Given the description of an element on the screen output the (x, y) to click on. 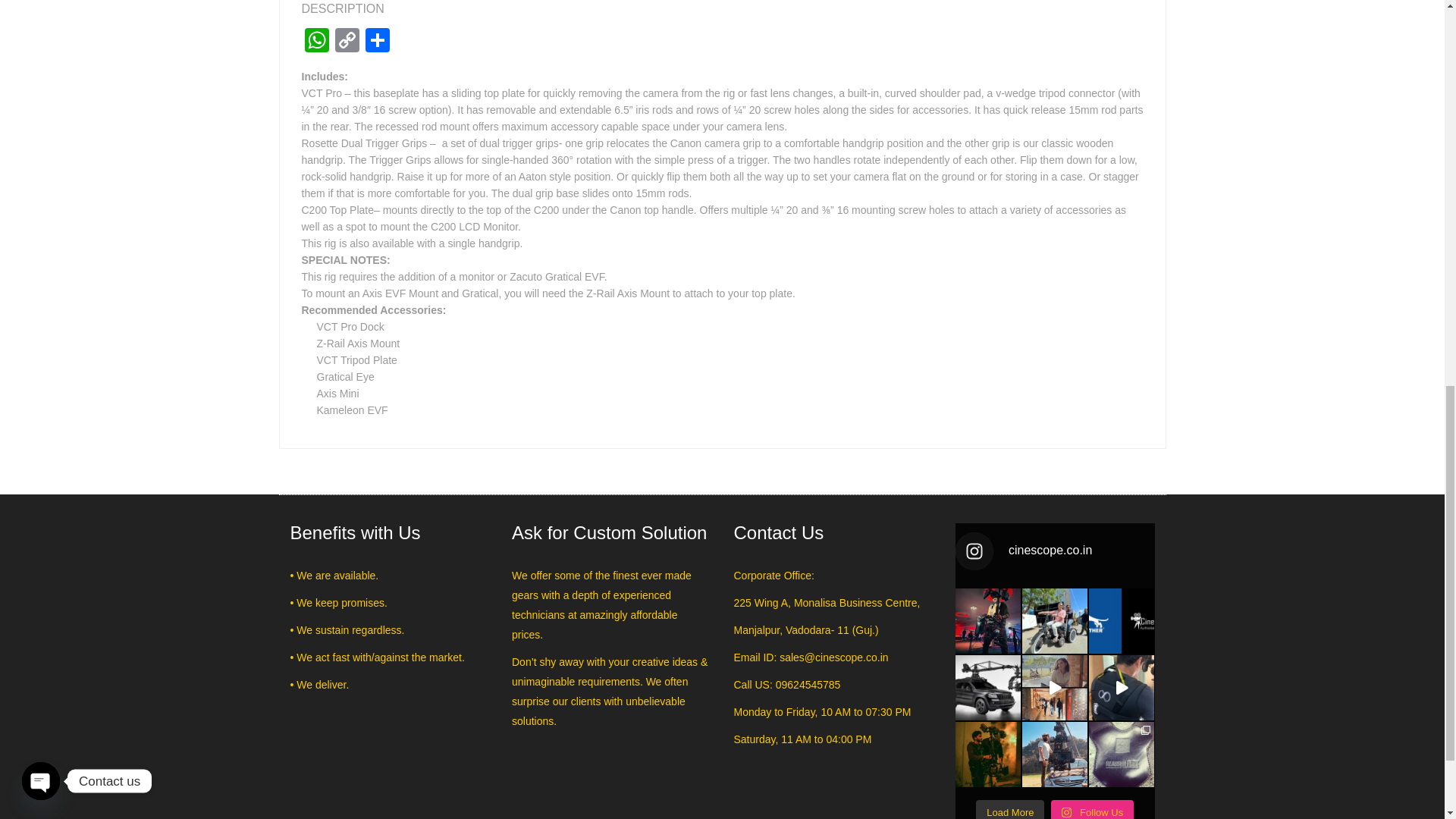
WhatsApp (316, 41)
Copy Link (346, 41)
